Given the description of an element on the screen output the (x, y) to click on. 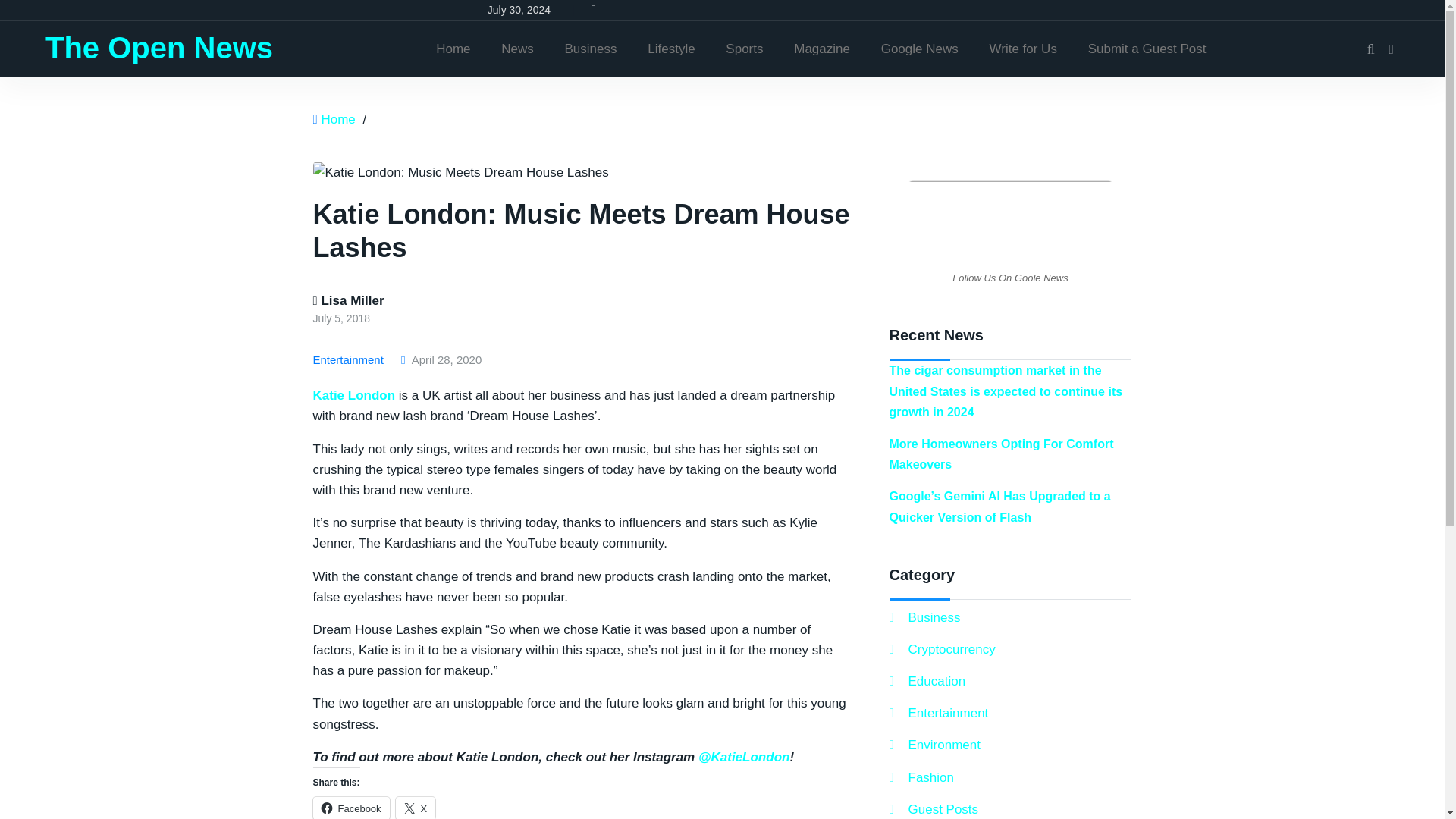
News (517, 48)
Facebook (350, 807)
Fashion (920, 777)
Education (926, 680)
Entertainment (350, 359)
The Open News (159, 47)
Business (590, 48)
Submit a Guest Post (1147, 48)
Sports (743, 48)
Google News (919, 48)
Click to share on X (415, 807)
Cryptocurrency (941, 649)
Click to share on Facebook (350, 807)
Environment (933, 744)
